Given the description of an element on the screen output the (x, y) to click on. 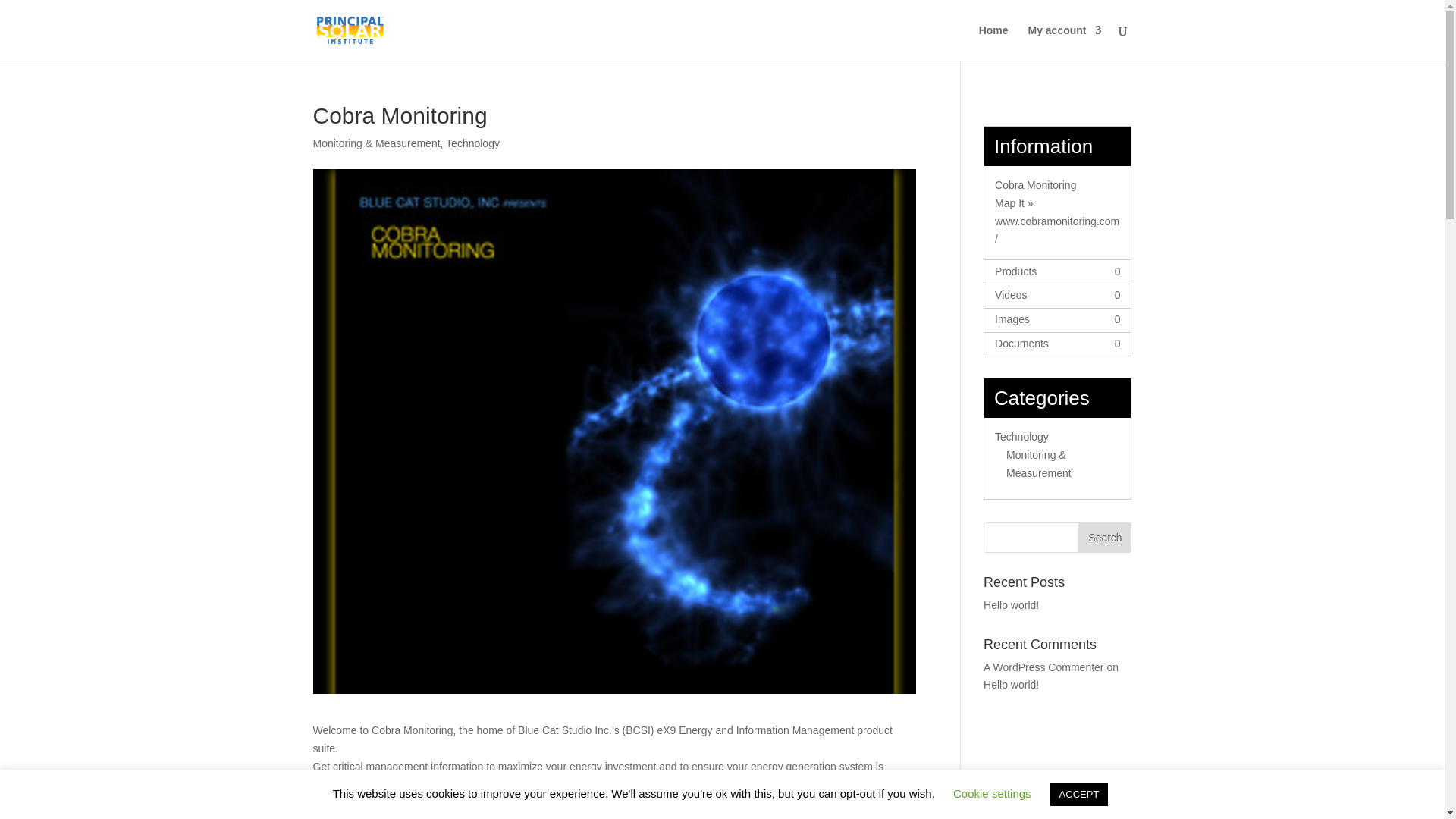
Technology (1021, 436)
Documents (1021, 343)
A WordPress Commenter (1043, 666)
Hello world! (1011, 604)
Hello world! (1011, 684)
Search (1104, 537)
Products (1015, 271)
My account (1063, 42)
Technology (472, 143)
Search (1104, 537)
Images (1011, 318)
Videos (1010, 295)
